Given the description of an element on the screen output the (x, y) to click on. 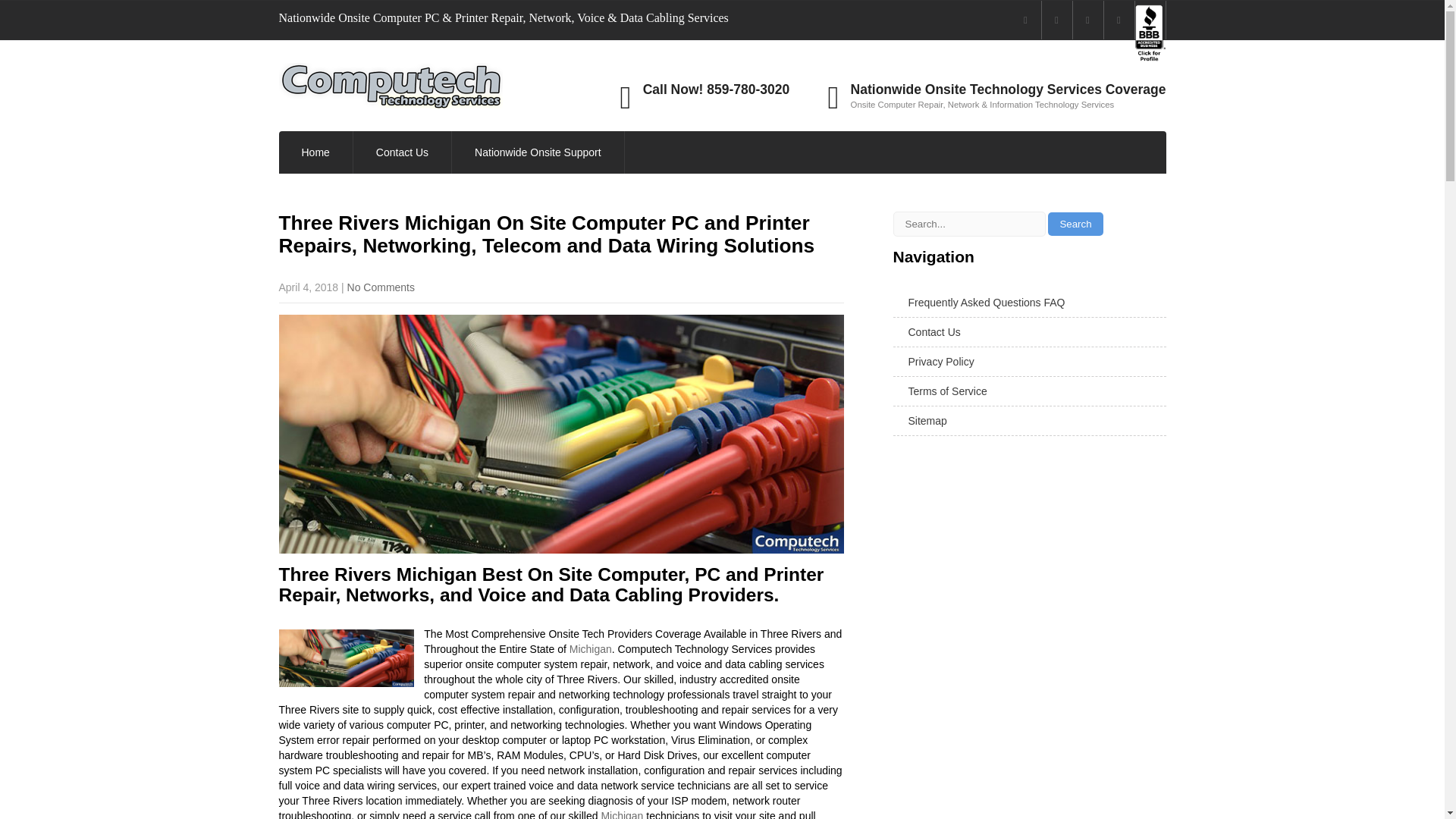
Search (1075, 223)
Search (1075, 223)
No Comments (380, 287)
Michigan (621, 814)
Contact Us (402, 152)
Nationwide Onsite Support (537, 152)
Michigan (590, 648)
